Given the description of an element on the screen output the (x, y) to click on. 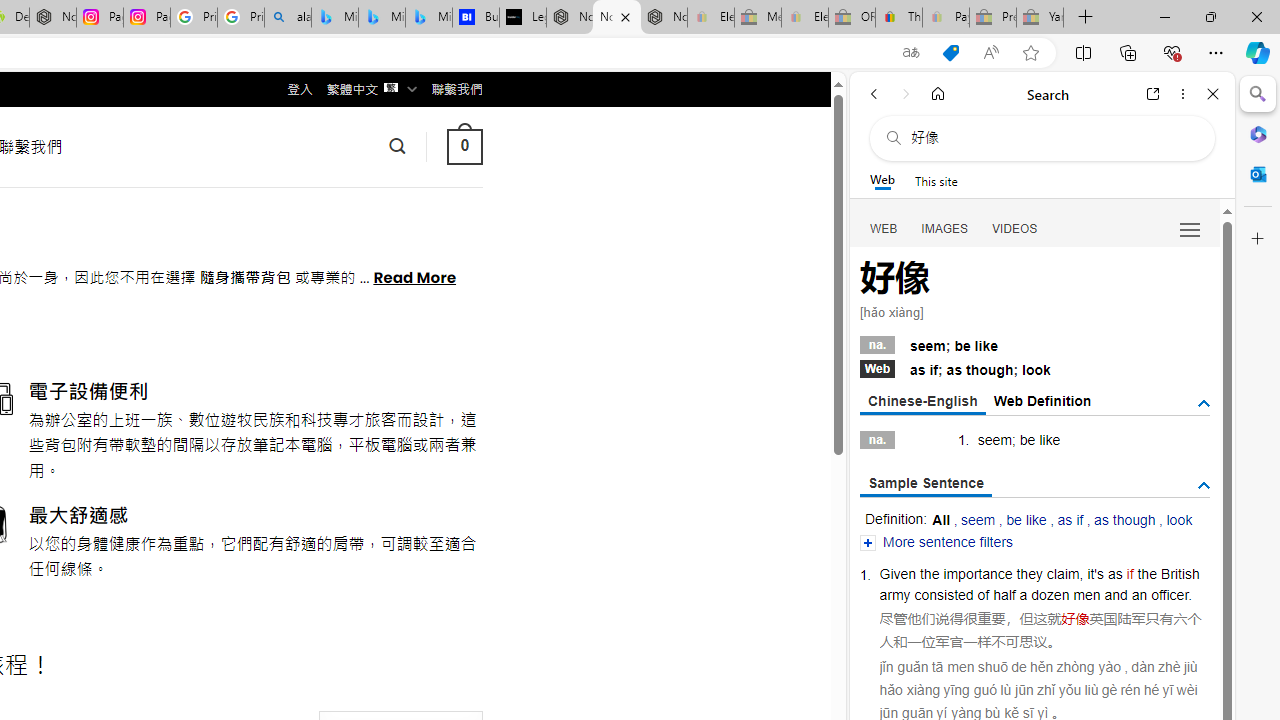
Web Definition (1042, 400)
claim (1062, 573)
Web scope (882, 180)
as though (1124, 520)
consisted (943, 594)
Payments Terms of Use | eBay.com - Sleeping (945, 17)
Forward (906, 93)
men (1086, 594)
it (1090, 573)
Webas if; as though; look (1034, 367)
